Given the description of an element on the screen output the (x, y) to click on. 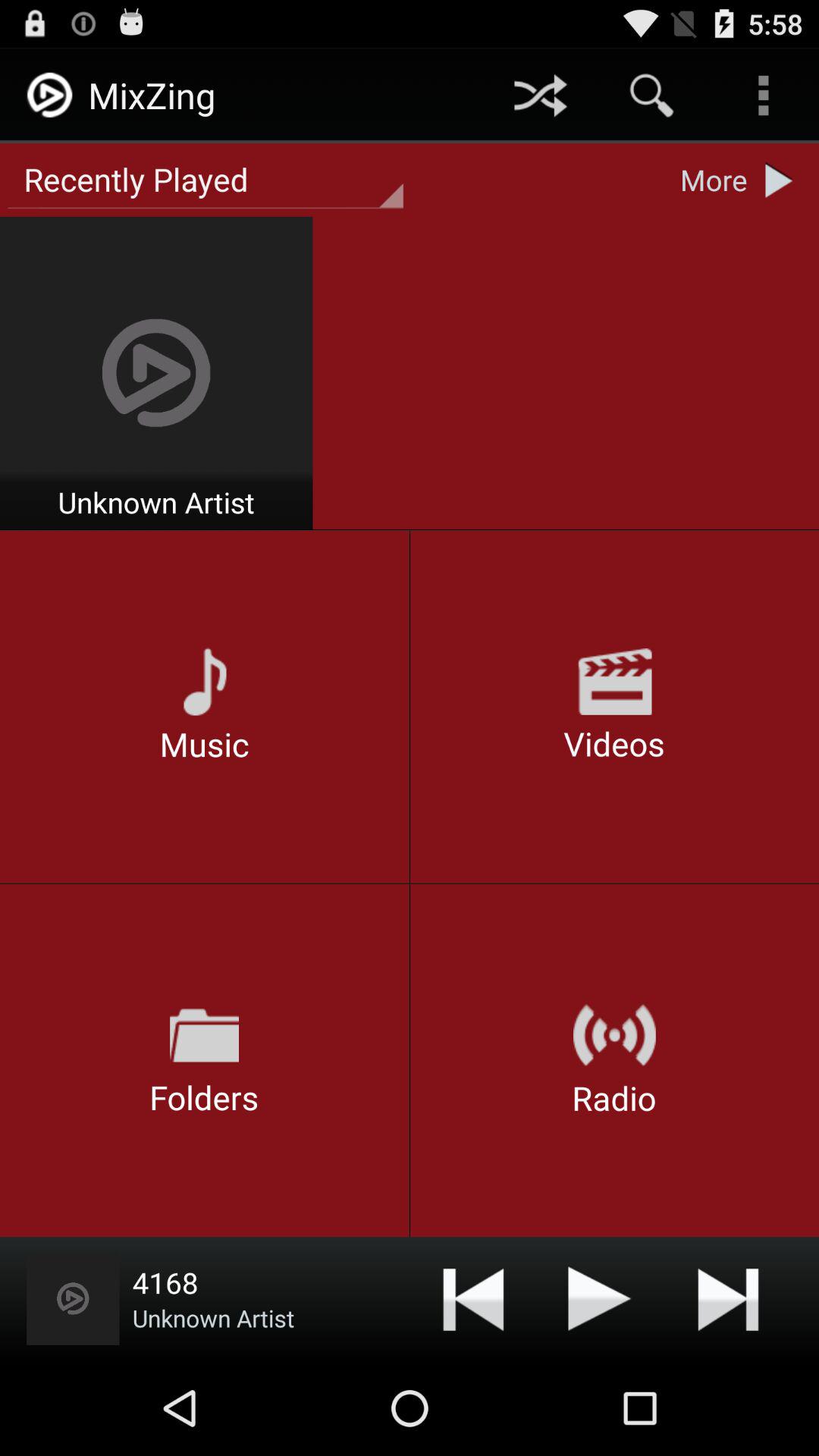
go to previous (472, 1298)
